Given the description of an element on the screen output the (x, y) to click on. 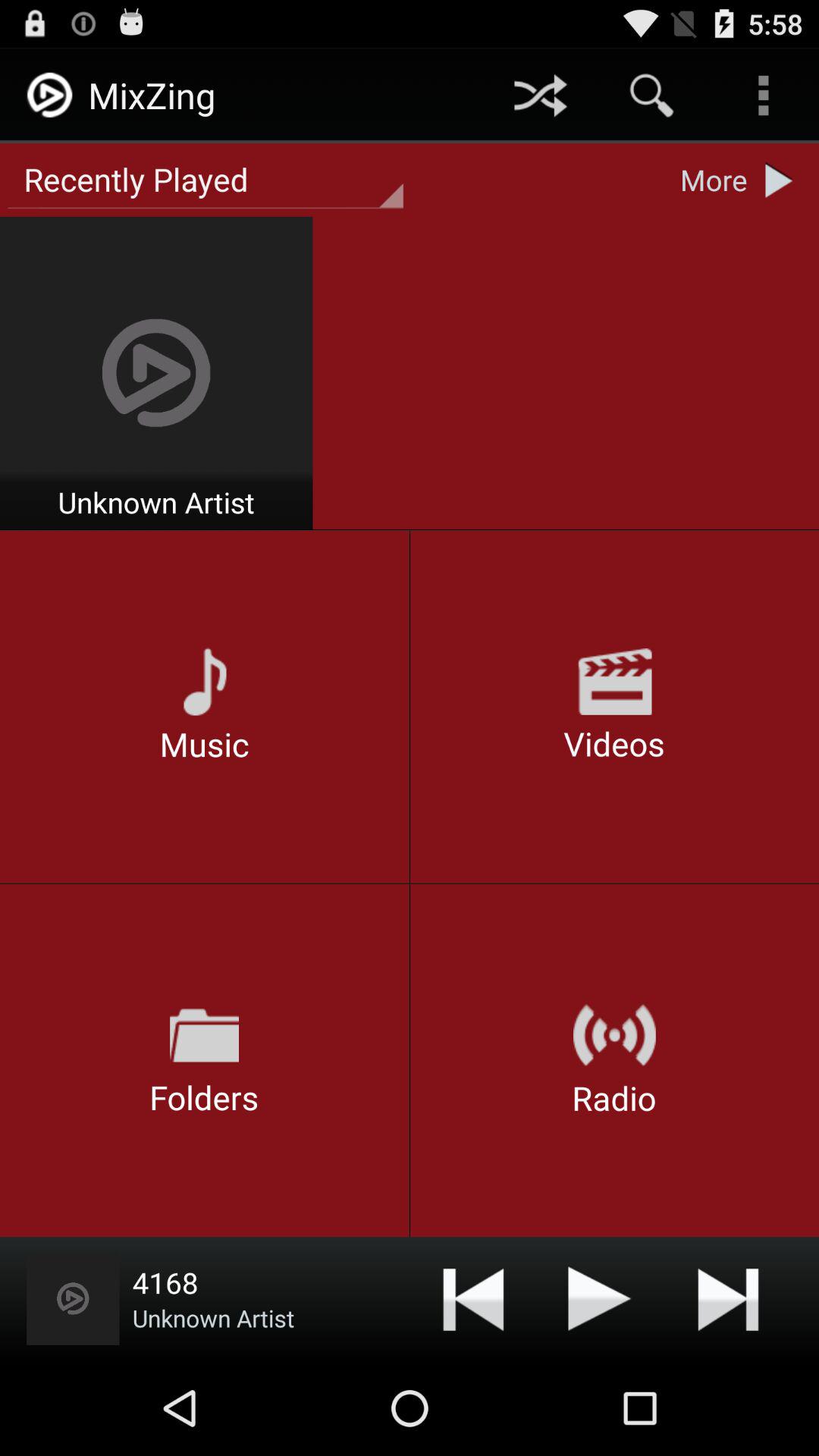
go to previous (472, 1298)
